Given the description of an element on the screen output the (x, y) to click on. 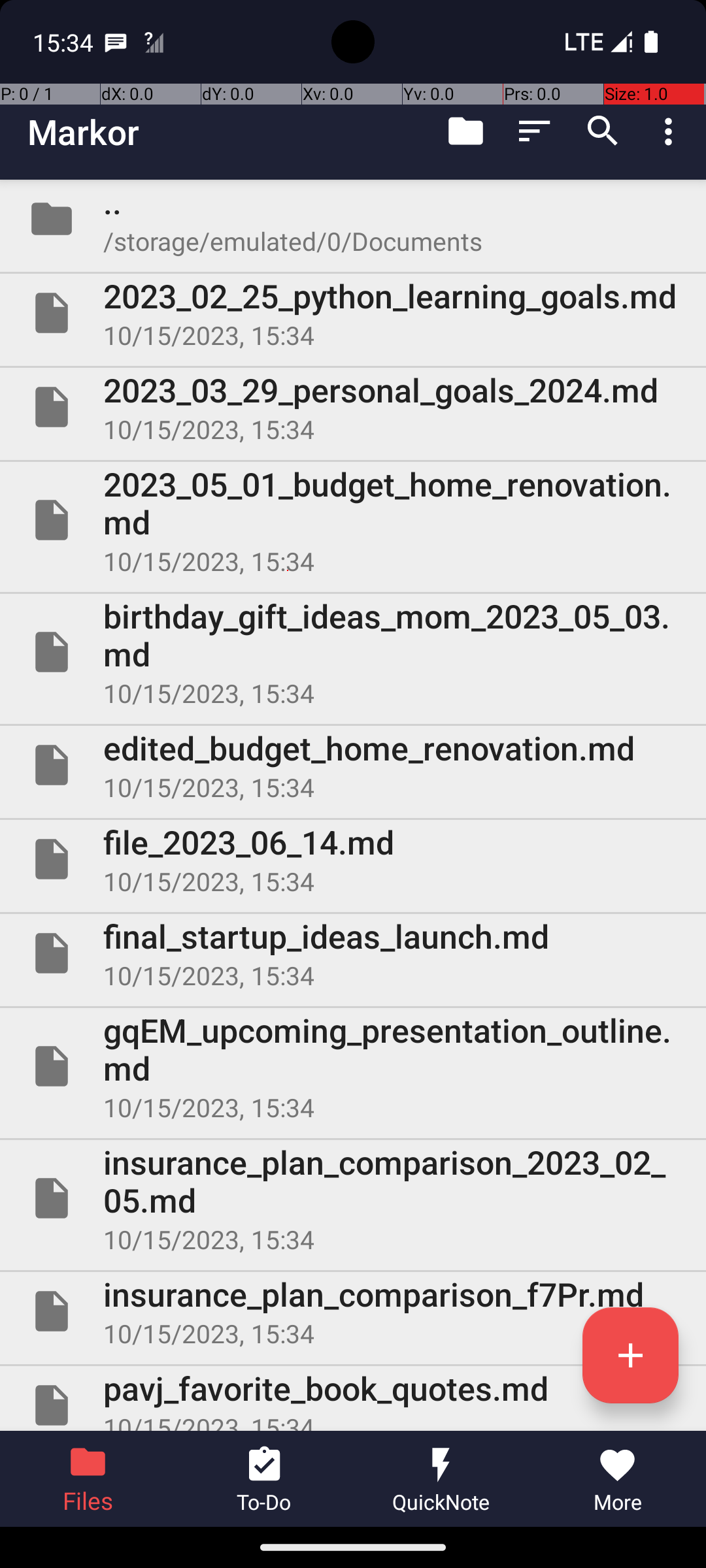
File 2023_02_25_python_learning_goals.md  Element type: android.widget.LinearLayout (353, 312)
File 2023_03_29_personal_goals_2024.md  Element type: android.widget.LinearLayout (353, 406)
File 2023_05_01_budget_home_renovation.md  Element type: android.widget.LinearLayout (353, 519)
File birthday_gift_ideas_mom_2023_05_03.md  Element type: android.widget.LinearLayout (353, 651)
File edited_budget_home_renovation.md  Element type: android.widget.LinearLayout (353, 764)
File file_2023_06_14.md  Element type: android.widget.LinearLayout (353, 858)
File final_startup_ideas_launch.md  Element type: android.widget.LinearLayout (353, 953)
File gqEM_upcoming_presentation_outline.md  Element type: android.widget.LinearLayout (353, 1066)
File insurance_plan_comparison_2023_02_05.md  Element type: android.widget.LinearLayout (353, 1198)
File insurance_plan_comparison_f7Pr.md  Element type: android.widget.LinearLayout (353, 1311)
File pavj_favorite_book_quotes.md  Element type: android.widget.LinearLayout (353, 1398)
